Given the description of an element on the screen output the (x, y) to click on. 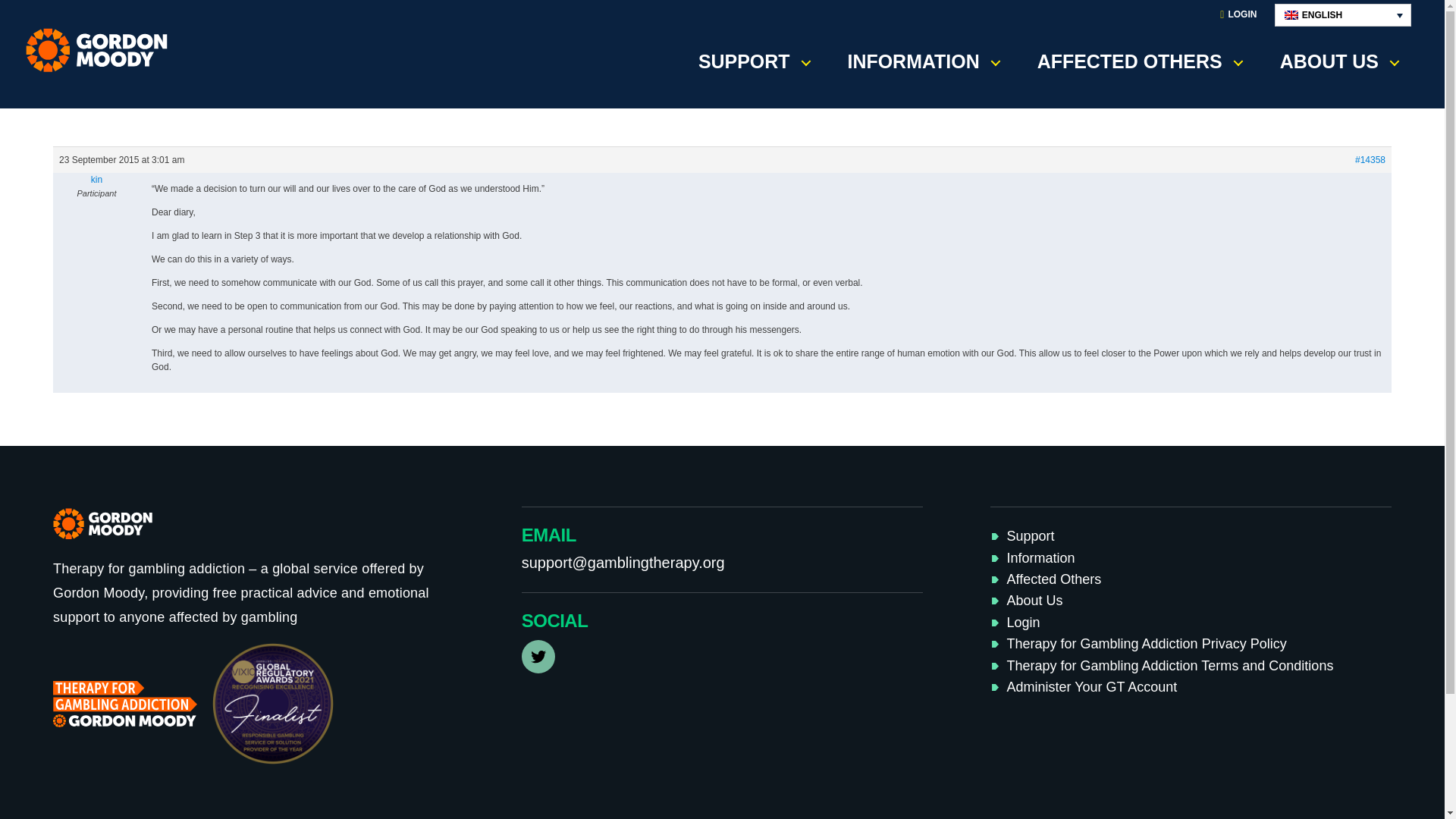
ENGLISH (1342, 15)
Gordon Moody (101, 50)
View kin's profile (95, 179)
LOGIN (1238, 15)
